Given the description of an element on the screen output the (x, y) to click on. 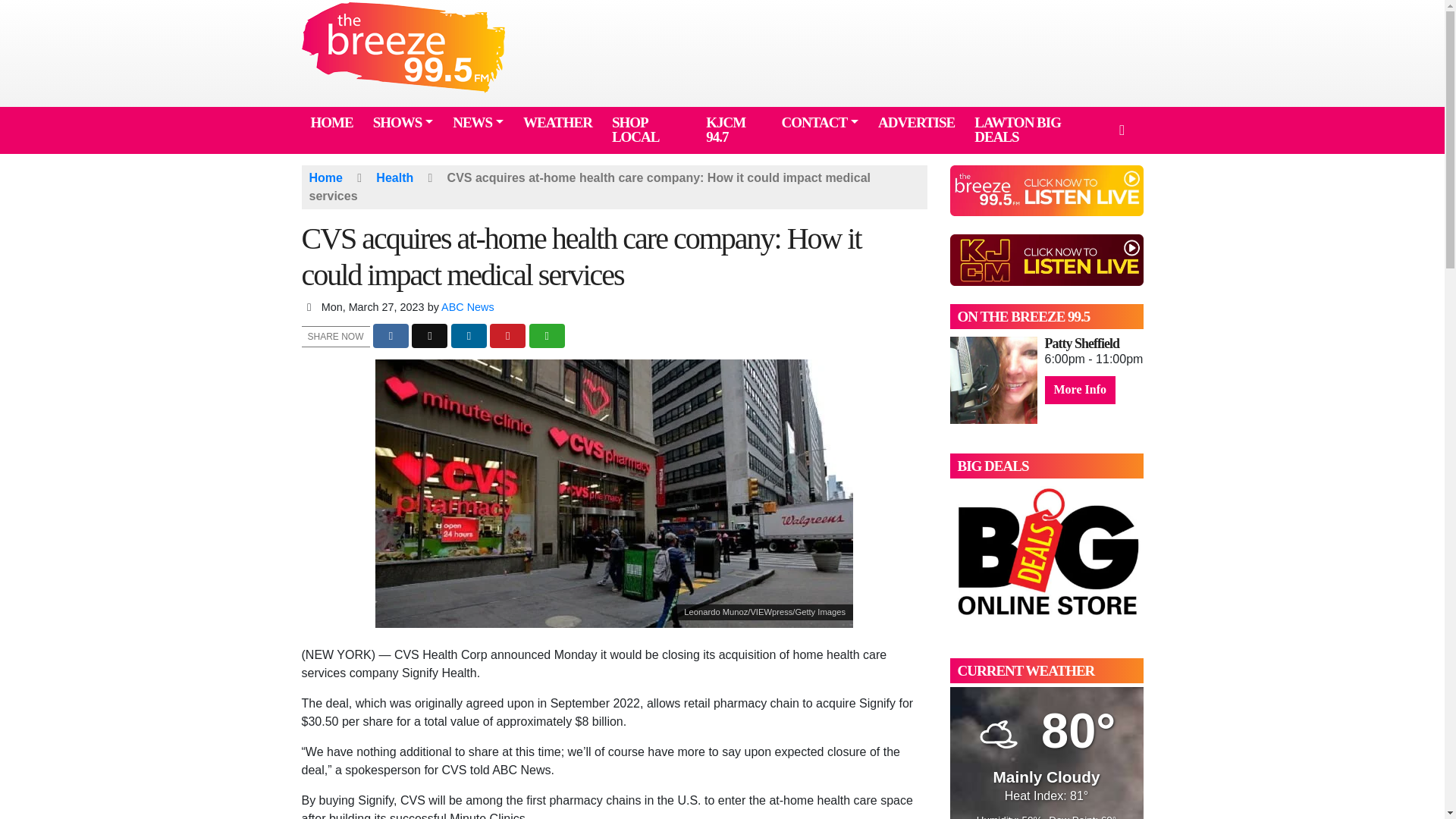
Share via E-Mail (546, 335)
Posts by ABC News (468, 306)
Share to LinkedIn (468, 335)
Share to Pinterest (507, 335)
Share to X (429, 335)
Share to Facebook (390, 335)
